Given the description of an element on the screen output the (x, y) to click on. 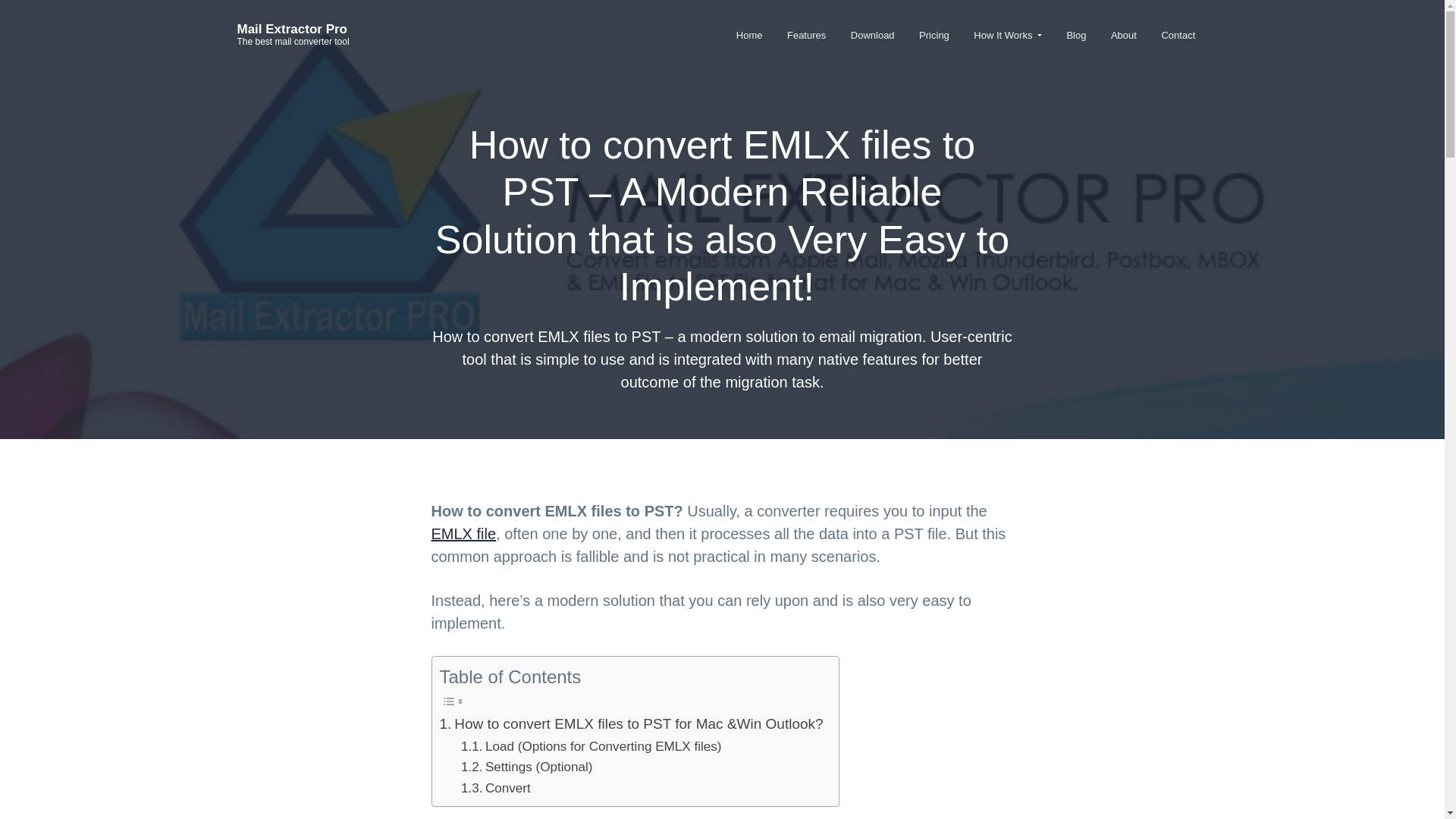
Download (872, 34)
Features (806, 34)
Convert (496, 788)
EMLX file (463, 533)
Contact (1177, 34)
Mail Extractor Pro (291, 29)
How It Works (1007, 34)
Home (748, 34)
Blog (1076, 34)
